Given the description of an element on the screen output the (x, y) to click on. 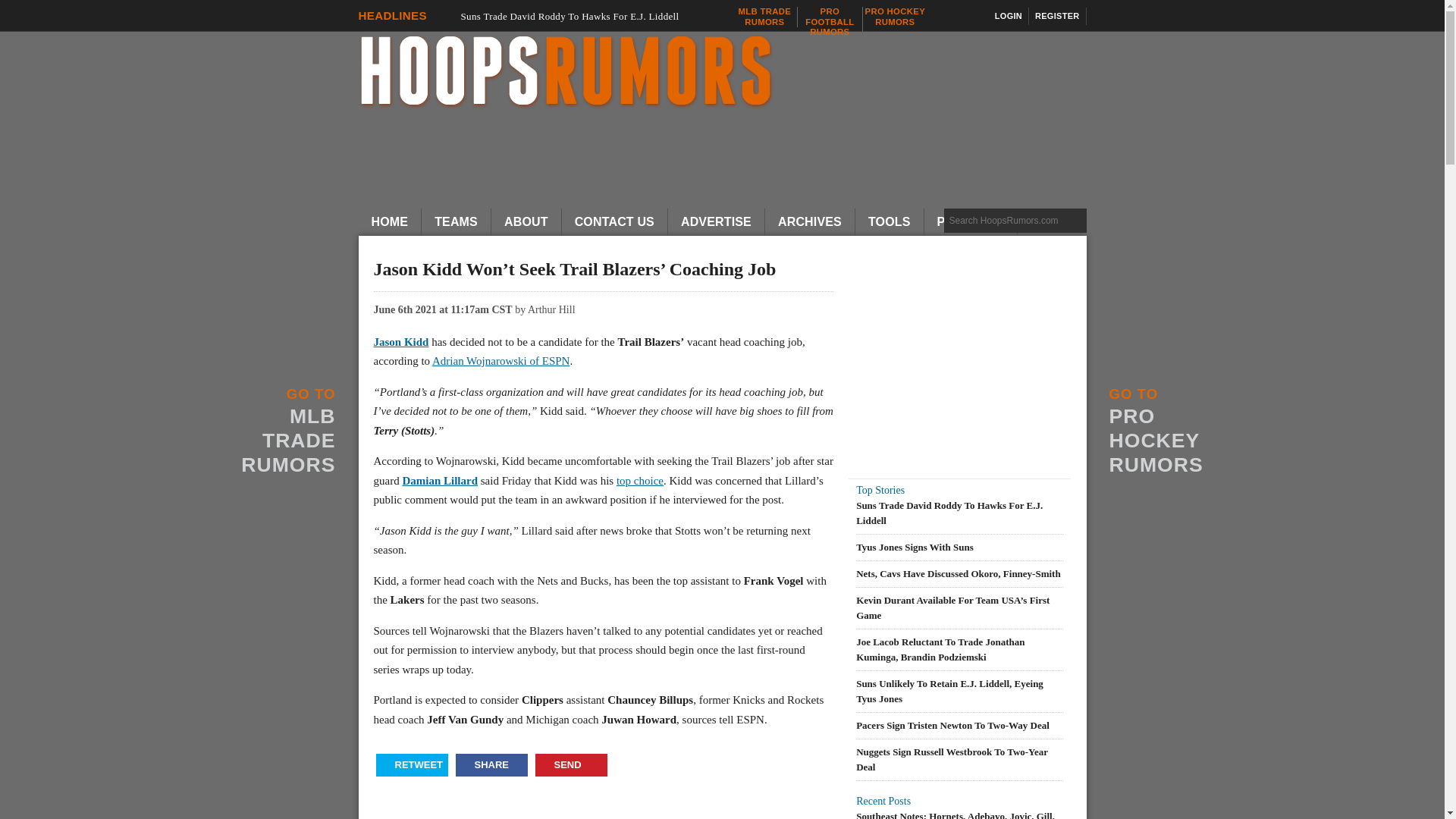
Hoops Rumors (729, 72)
teams (764, 16)
Search for: (829, 21)
Search (457, 221)
HOME (895, 16)
REGISTER (1014, 220)
LOGIN (390, 221)
Suns Trade David Roddy To Hawks For E.J. Liddell (1057, 16)
